Given the description of an element on the screen output the (x, y) to click on. 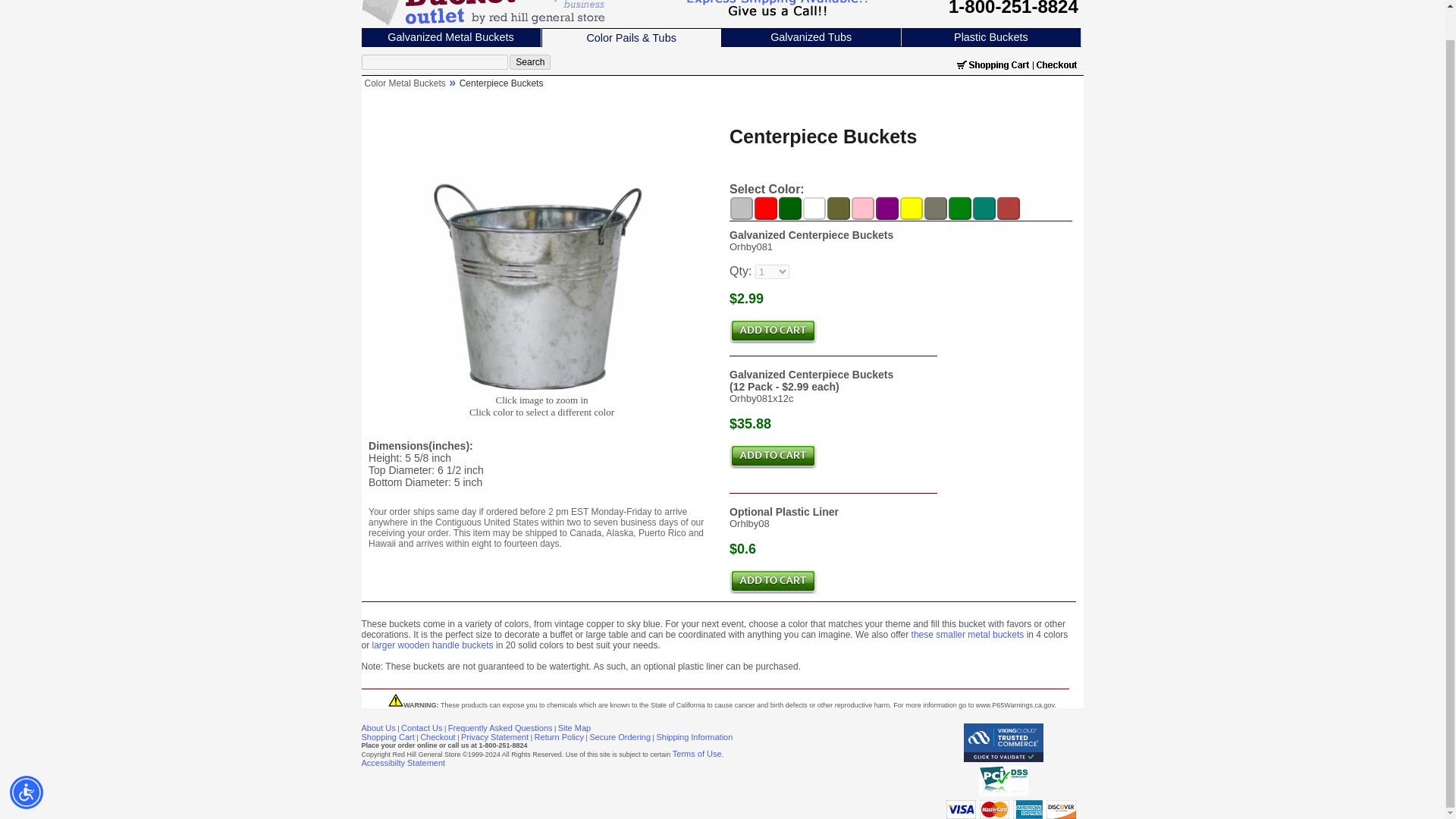
Galvanized Metal Buckets (450, 37)
Galvanized Tubs (810, 37)
Search (529, 61)
Plastic Buckets (990, 37)
Search (529, 61)
Accessibility Menu (26, 761)
